Given the description of an element on the screen output the (x, y) to click on. 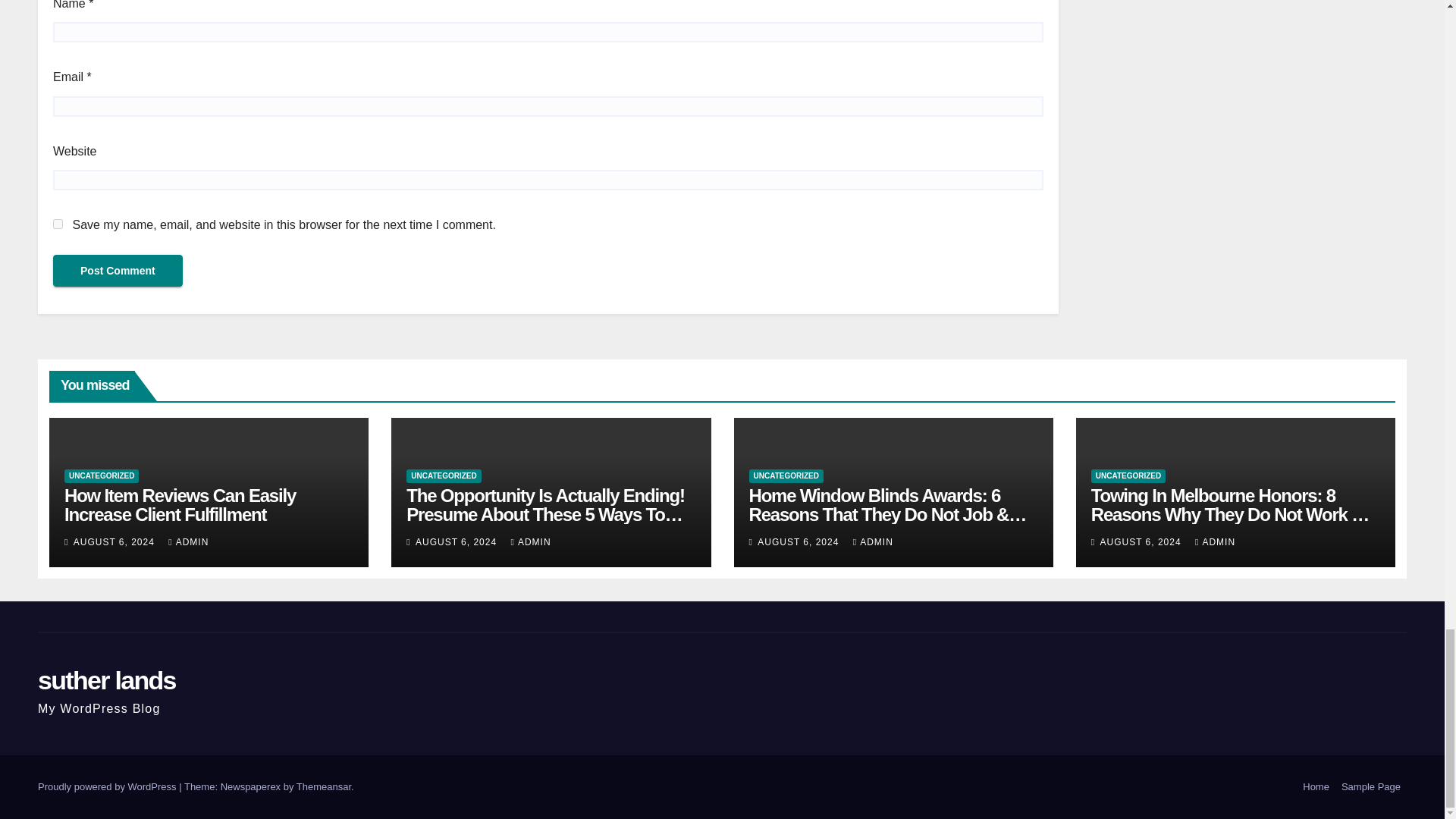
yes (57, 224)
Post Comment (117, 270)
Post Comment (117, 270)
Home (1316, 786)
